Given the description of an element on the screen output the (x, y) to click on. 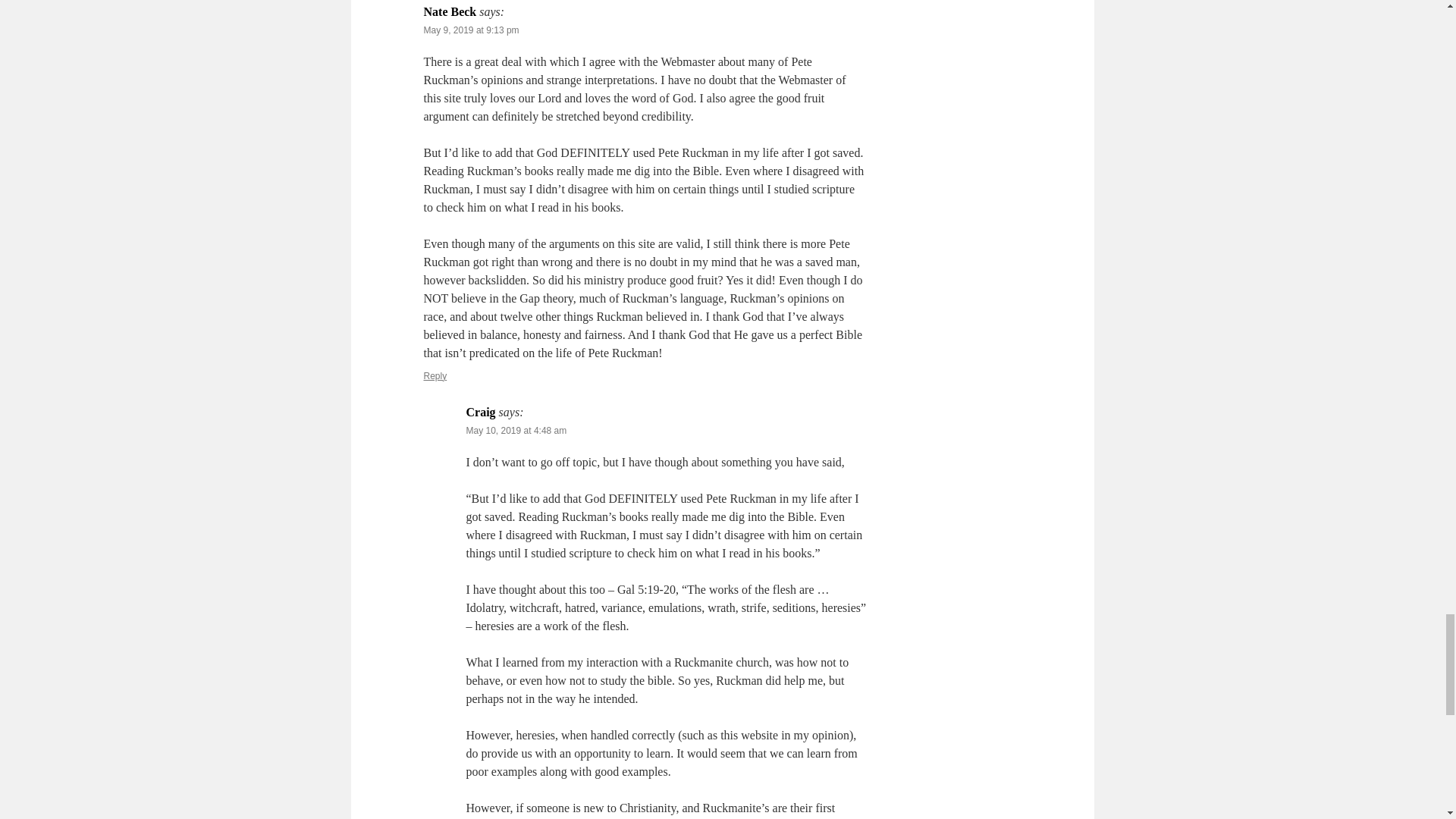
May 9, 2019 at 9:13 pm (470, 30)
May 10, 2019 at 4:48 am (515, 430)
Reply (434, 376)
